Given the description of an element on the screen output the (x, y) to click on. 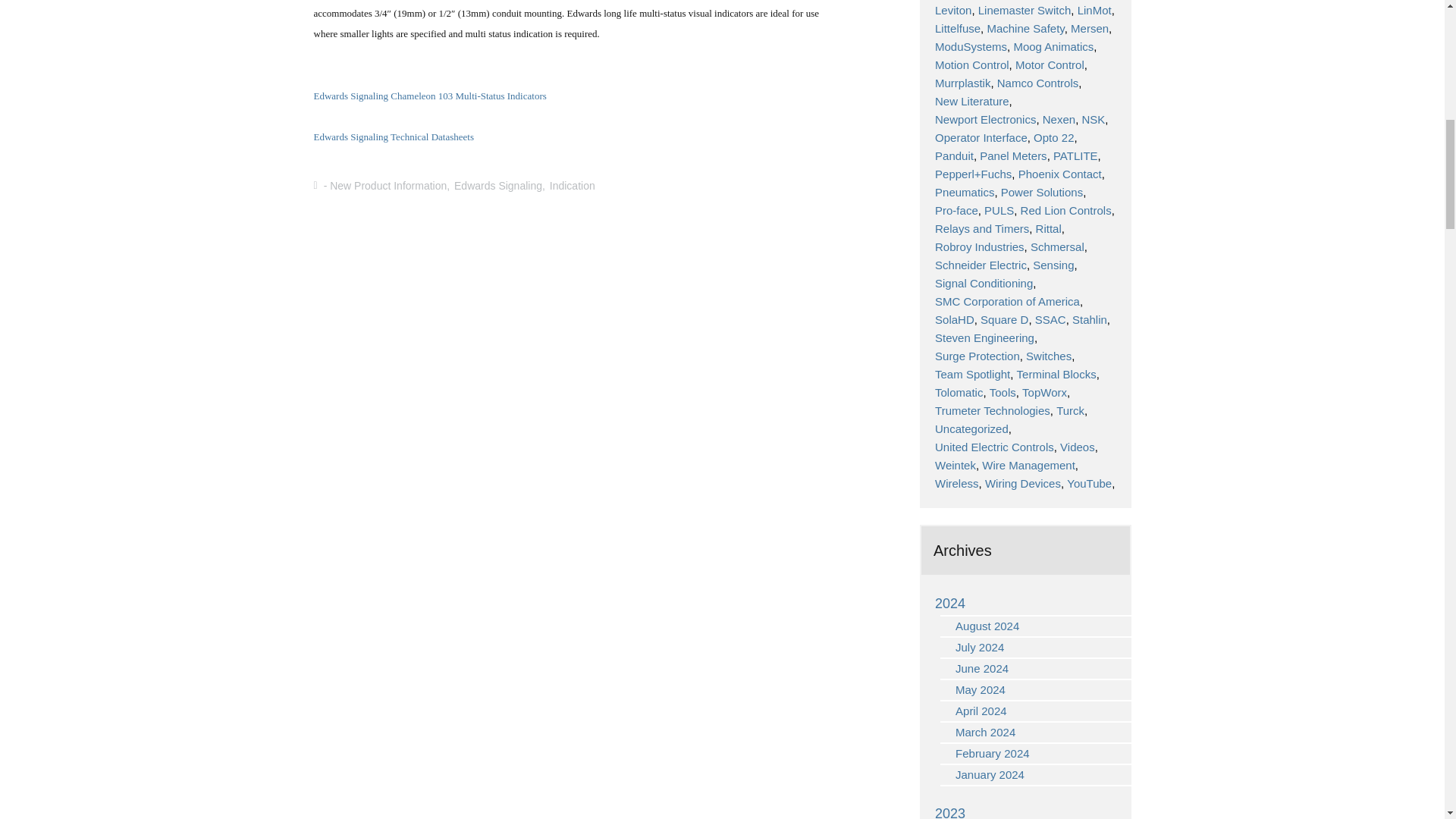
Edwards Signaling (497, 185)
- New Product Information (384, 185)
Edwards Signaling Technical Datasheets (394, 135)
Indication (572, 185)
Edwards Signaling Chameleon 103 Multi-Status Indicators (430, 94)
